Given the description of an element on the screen output the (x, y) to click on. 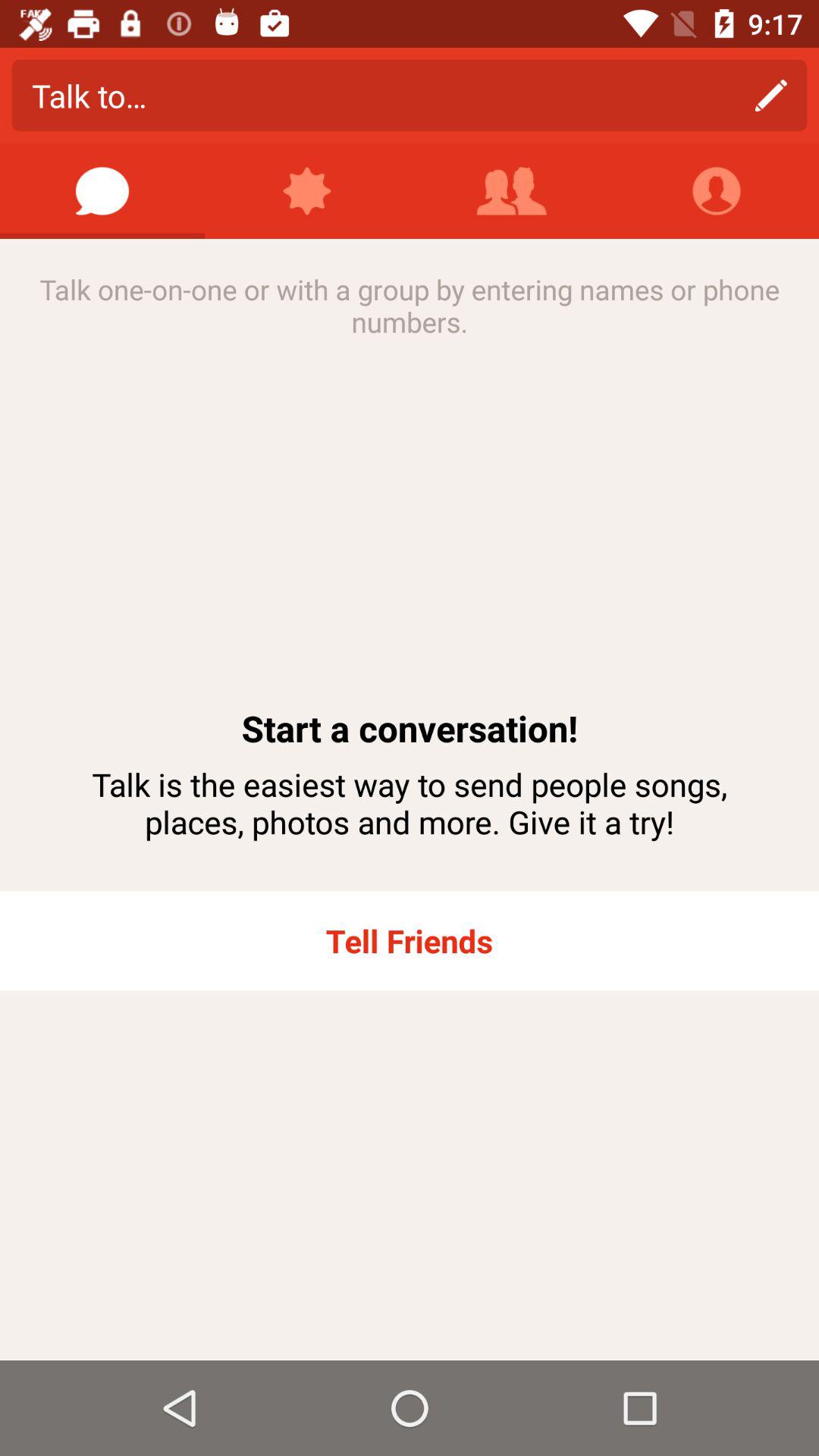
open contacts (511, 190)
